Given the description of an element on the screen output the (x, y) to click on. 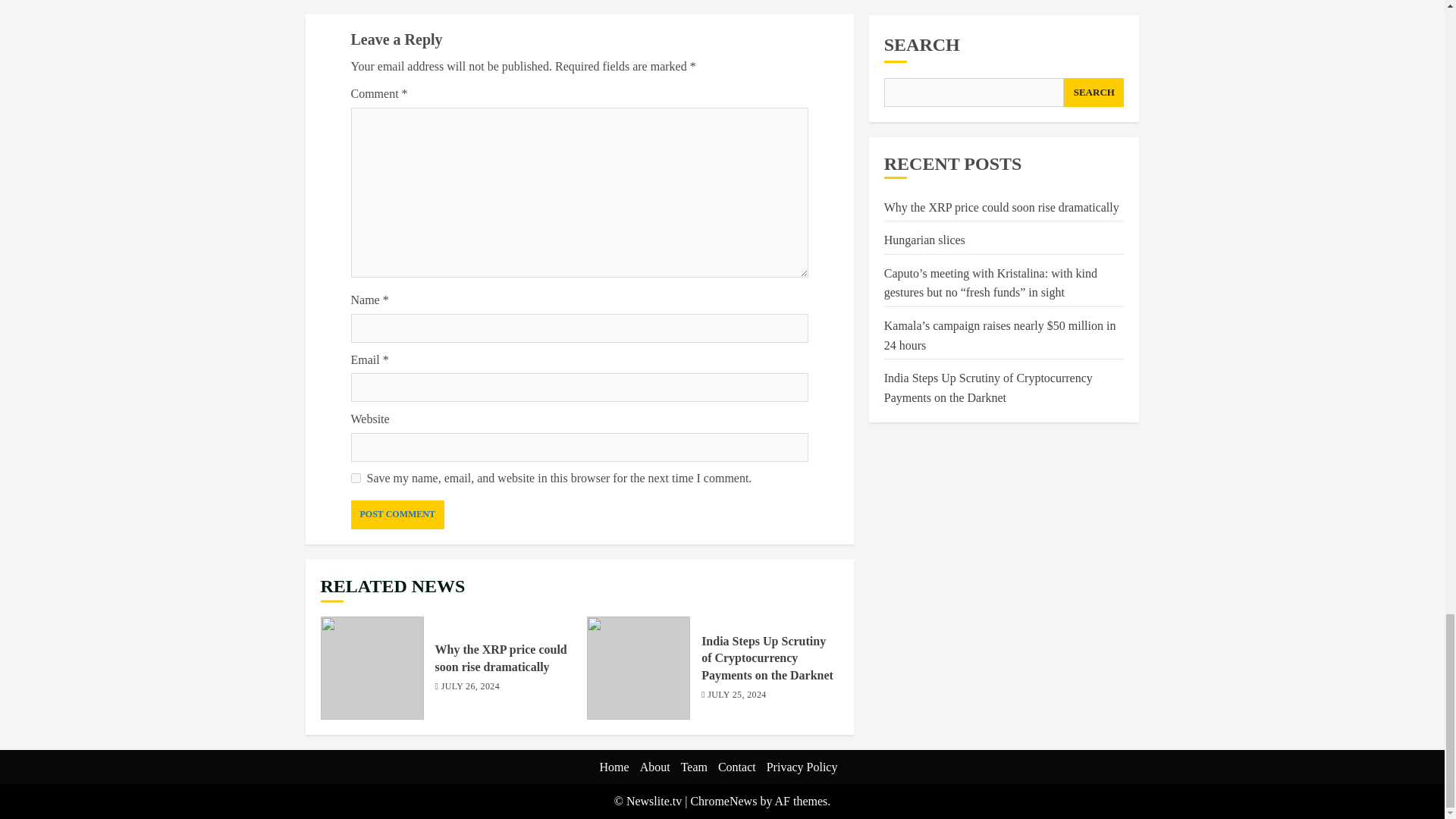
Privacy Policy (802, 766)
yes (354, 478)
Contact (736, 766)
Home (613, 766)
ChromeNews (723, 800)
Why the XRP price could soon rise dramatically (501, 657)
JULY 25, 2024 (736, 695)
JULY 26, 2024 (470, 686)
Team (694, 766)
Post Comment (397, 514)
Post Comment (397, 514)
Why the XRP price could soon rise dramatically (371, 667)
About (654, 766)
